Given the description of an element on the screen output the (x, y) to click on. 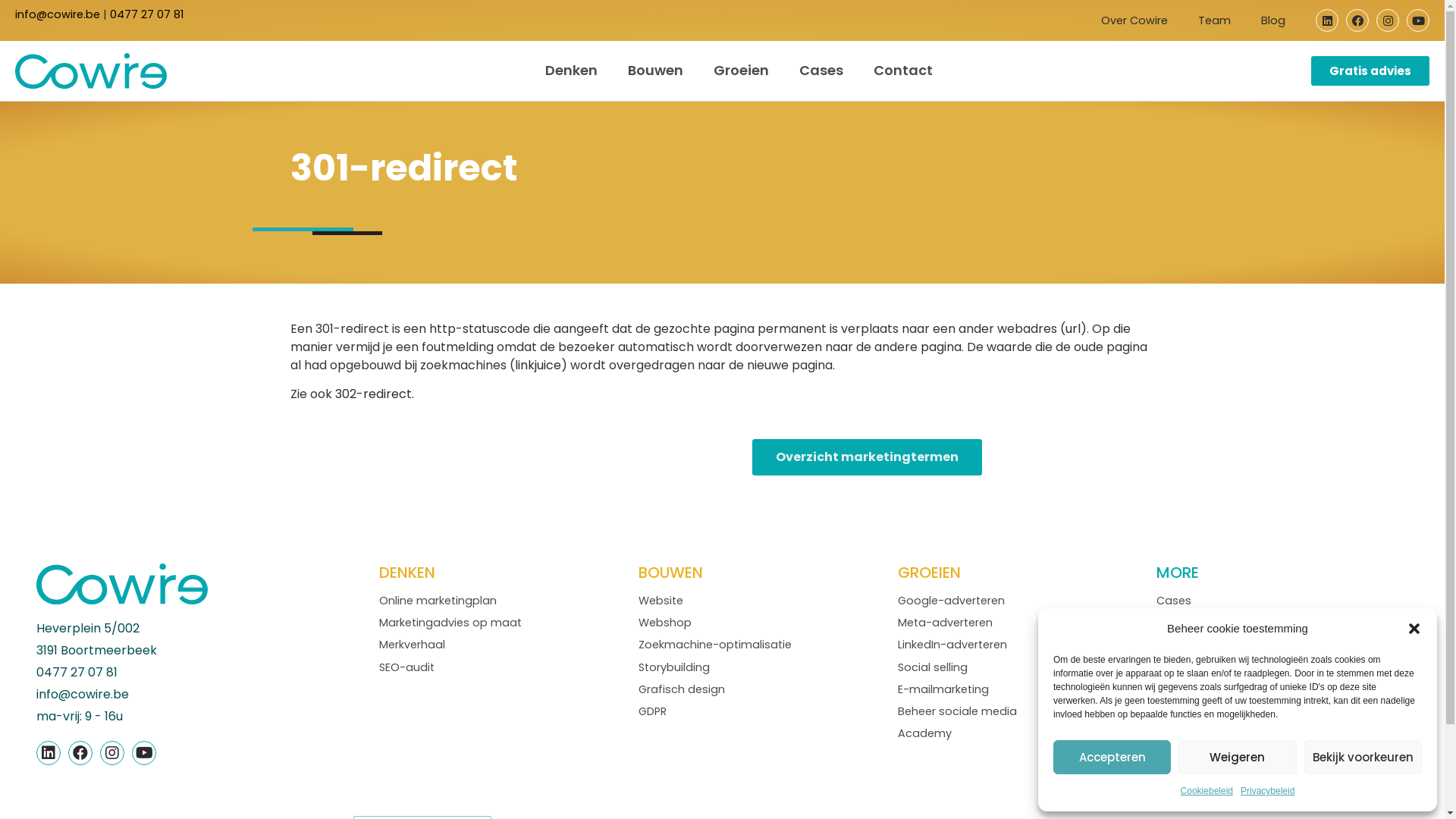
Blog Element type: text (1272, 20)
Beheer sociale media Element type: text (956, 710)
url Element type: text (1071, 328)
E-mailmarketing Element type: text (942, 688)
Blog Element type: text (1168, 622)
Partners Element type: text (1178, 688)
0477 27 07 81 Element type: text (207, 672)
Academy Element type: text (924, 732)
3191 Boortmeerbeek Element type: text (207, 650)
Denken Element type: text (571, 70)
Online marketingplan Element type: text (437, 600)
Contact Element type: text (902, 70)
KMO-portefeuille Element type: text (1202, 644)
0477 27 07 81 Element type: text (146, 13)
Accepteren Element type: text (1111, 757)
linkjuice Element type: text (537, 364)
Merkverhaal Element type: text (412, 644)
Heverplein 5/002 Element type: text (207, 628)
Zoekmachine-optimalisatie Element type: text (714, 644)
Google-adverteren Element type: text (950, 600)
Cases Element type: text (1173, 600)
info@cowire.be Element type: text (57, 13)
Team Element type: text (1214, 20)
Samenwerken Element type: text (1194, 710)
GDPR Element type: text (652, 710)
Cases Element type: text (821, 70)
Storybuilding Element type: text (673, 666)
302-redirect Element type: text (373, 393)
Over Cowire Element type: text (1134, 20)
Bekijk voorkeuren Element type: text (1362, 757)
info@cowire.be Element type: text (207, 694)
Website Element type: text (660, 600)
Marketingadvies op maat Element type: text (450, 622)
Groeien Element type: text (741, 70)
Cookiebeleid Element type: text (1206, 790)
Bouwen Element type: text (655, 70)
Webshop Element type: text (664, 622)
Marketingtermen Element type: text (1203, 666)
Weigeren Element type: text (1236, 757)
Meta-adverteren Element type: text (944, 622)
Overzicht marketingtermen Element type: text (867, 457)
Privacybeleid Element type: text (1267, 790)
Social selling Element type: text (932, 666)
SEO-audit Element type: text (406, 666)
LinkedIn-adverteren Element type: text (952, 644)
Grafisch design Element type: text (681, 688)
Gratis advies Element type: text (1370, 70)
